Given the description of an element on the screen output the (x, y) to click on. 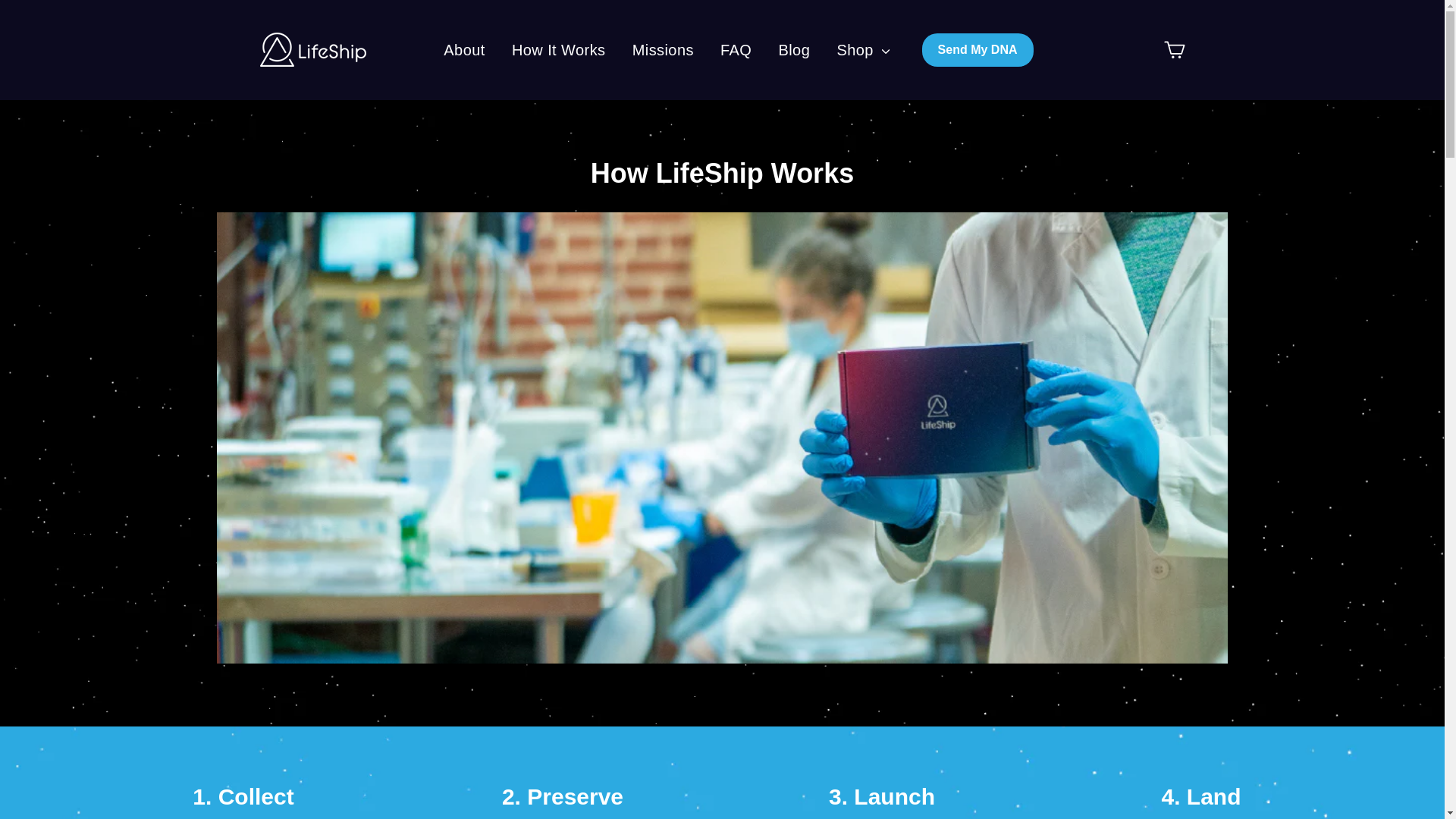
Shop (862, 49)
How It Works (558, 49)
Missions (662, 49)
Blog (794, 49)
Send My DNA (977, 49)
Cart (1173, 49)
About (464, 49)
FAQ (735, 49)
